Given the description of an element on the screen output the (x, y) to click on. 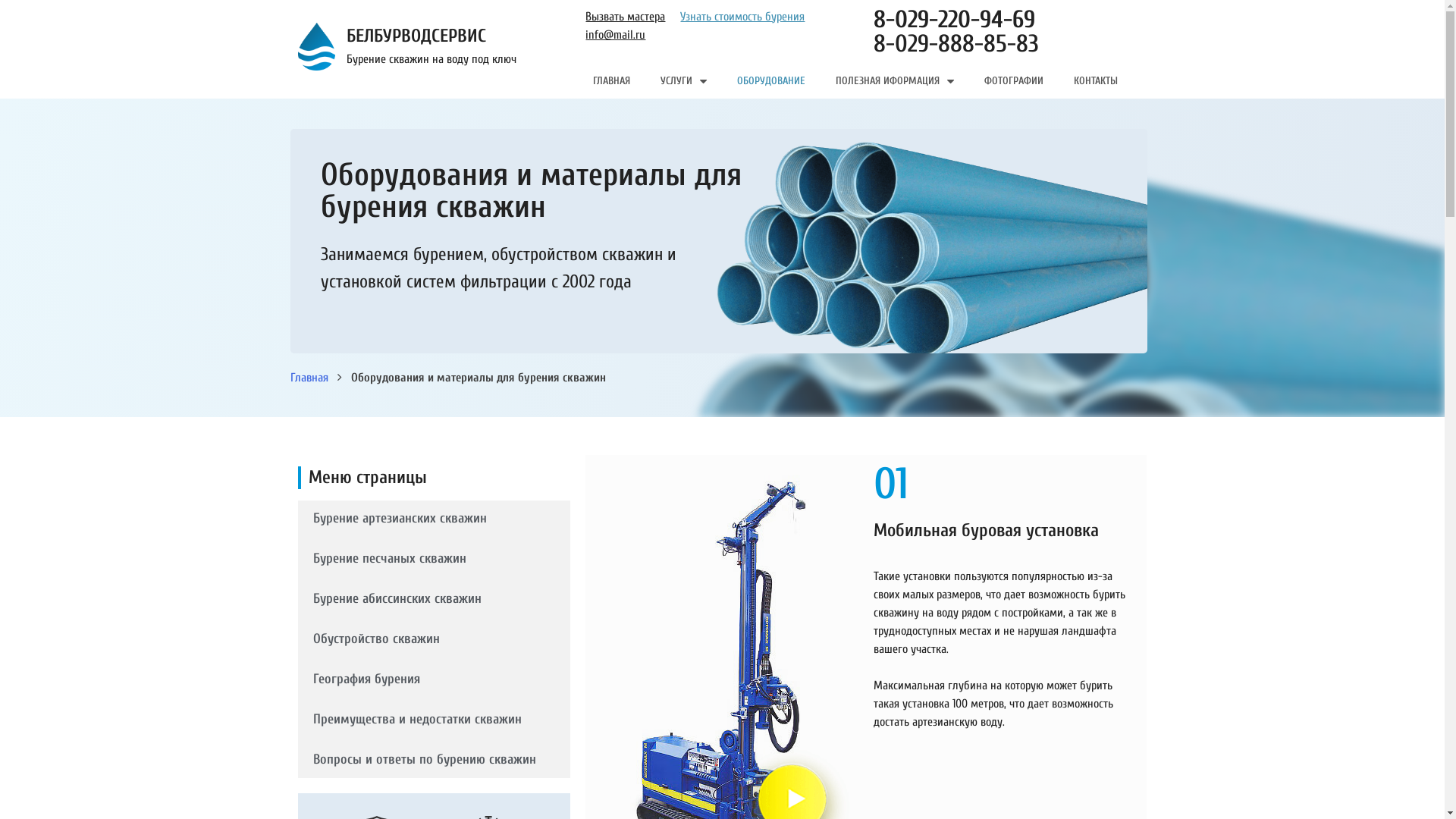
8-029-220-94-69 Element type: text (954, 19)
8-029-888-85-83 Element type: text (955, 43)
info@mail.ru Element type: text (615, 34)
